Given the description of an element on the screen output the (x, y) to click on. 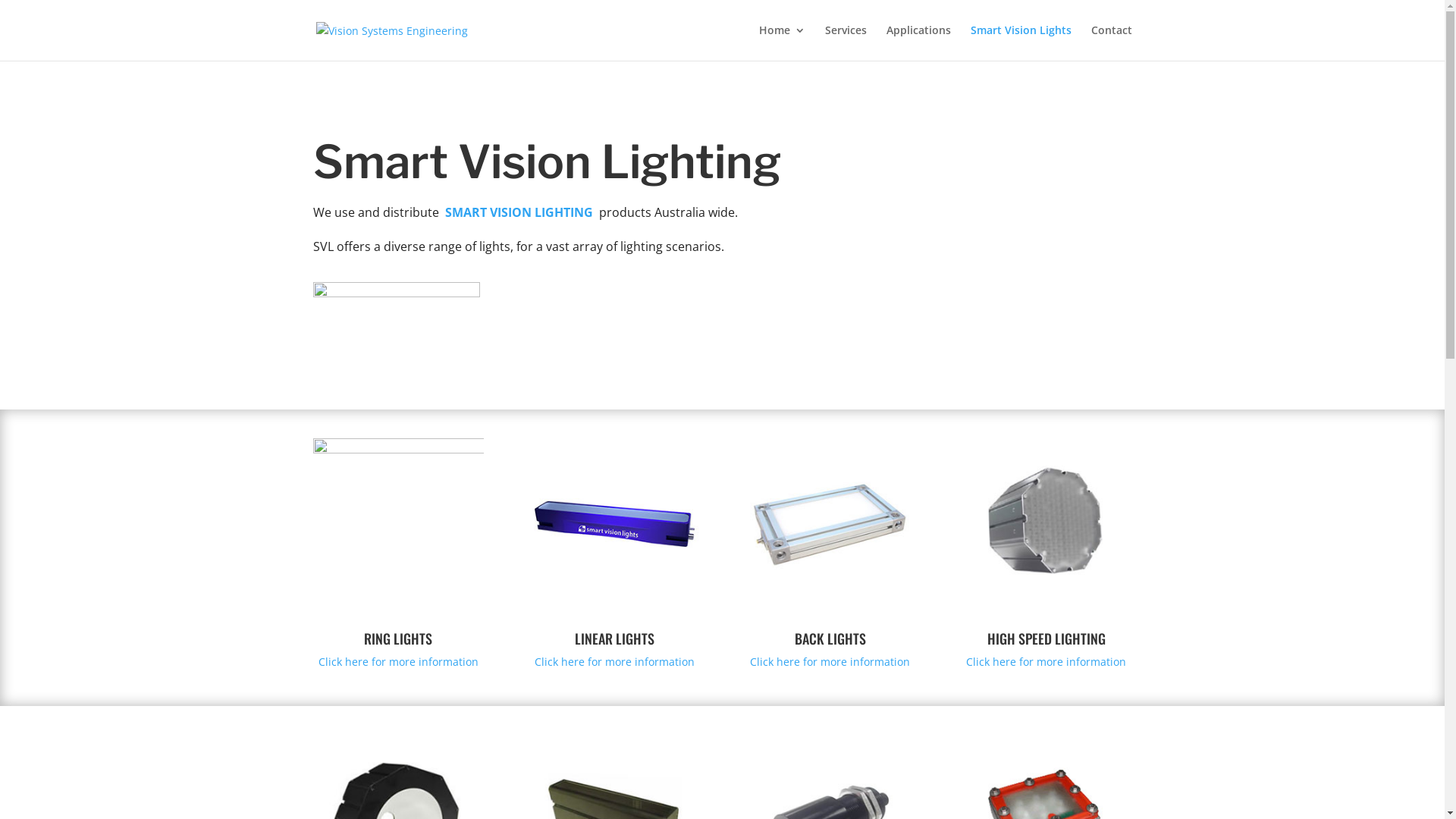
BACK LIGHTS Element type: text (830, 638)
HIGH SPEED LIGHTING Element type: text (1046, 638)
Click here for more information Element type: text (398, 661)
Home Element type: text (781, 42)
Click here for more information Element type: text (1046, 661)
Contact Element type: text (1110, 42)
Services Element type: text (845, 42)
Click here for more information Element type: text (829, 661)
Applications Element type: text (917, 42)
SMART VISION LIGHTING Element type: text (518, 211)
Smart Vision Lights Element type: text (1020, 42)
LINEAR LIGHTS Element type: text (614, 638)
Click here for more information Element type: text (614, 661)
RING LIGHTS Element type: text (398, 638)
